Given the description of an element on the screen output the (x, y) to click on. 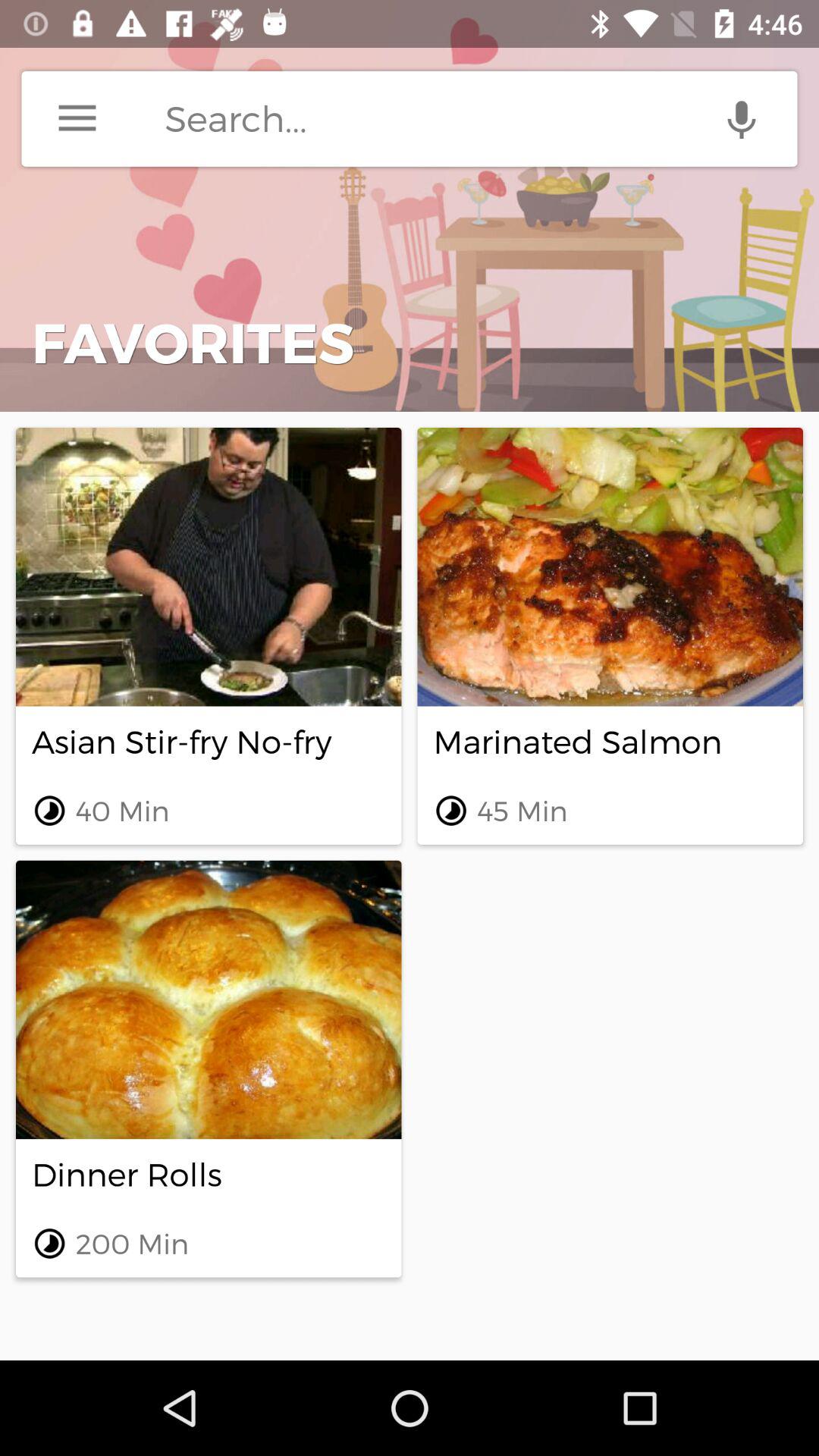
tap the icon above favorites item (77, 118)
